Given the description of an element on the screen output the (x, y) to click on. 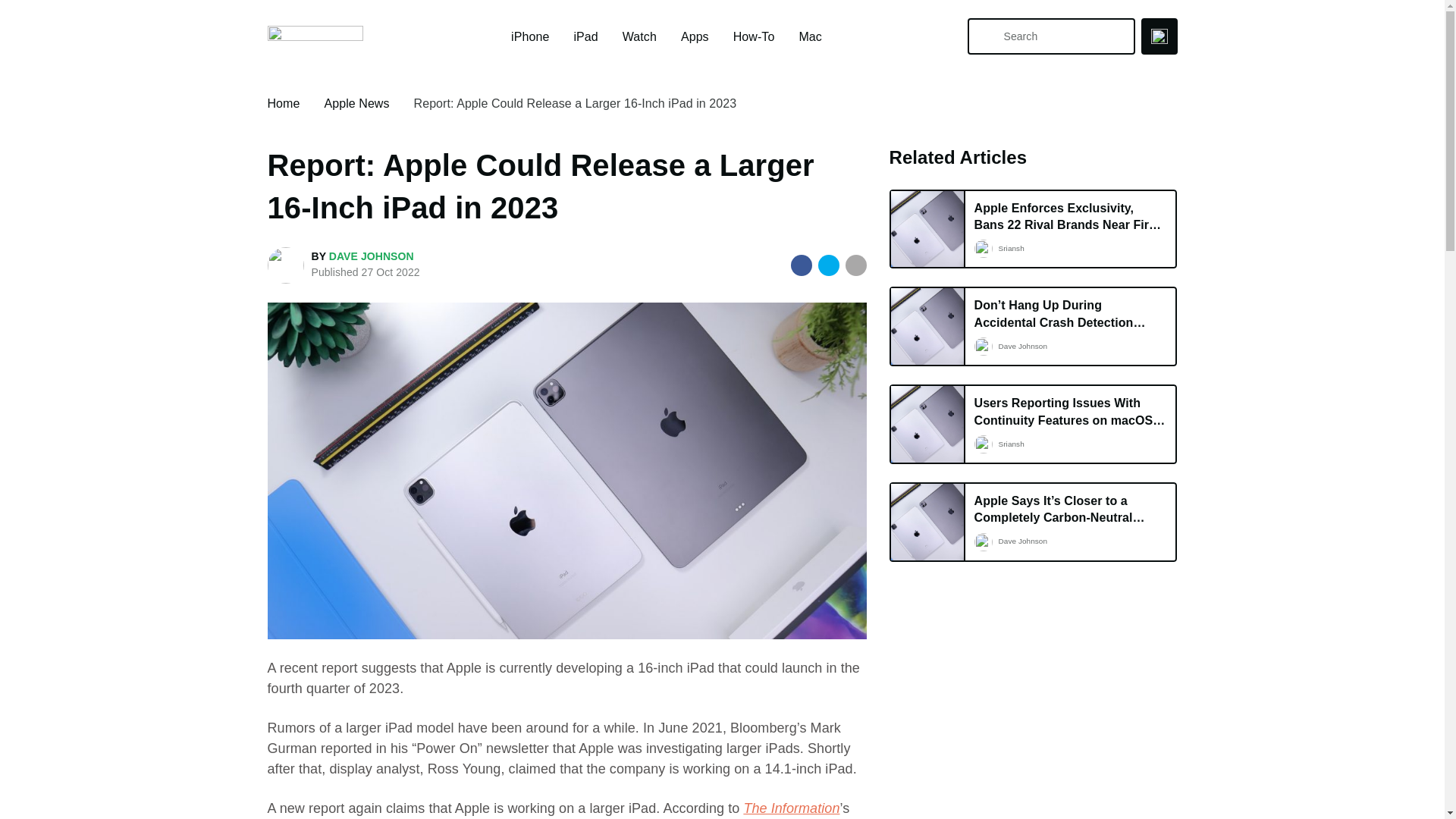
iPhone (529, 37)
Mac (809, 37)
iPad (584, 37)
Share to Twitter (829, 265)
Report: Apple Could Release a Larger 16-Inch iPad in 2023 (574, 103)
Apple News (355, 103)
Watch (639, 37)
Apps (695, 37)
Share to Facebook (801, 265)
Apple Watch (639, 37)
iPhone (529, 37)
The Information (791, 807)
How-To (753, 37)
